Given the description of an element on the screen output the (x, y) to click on. 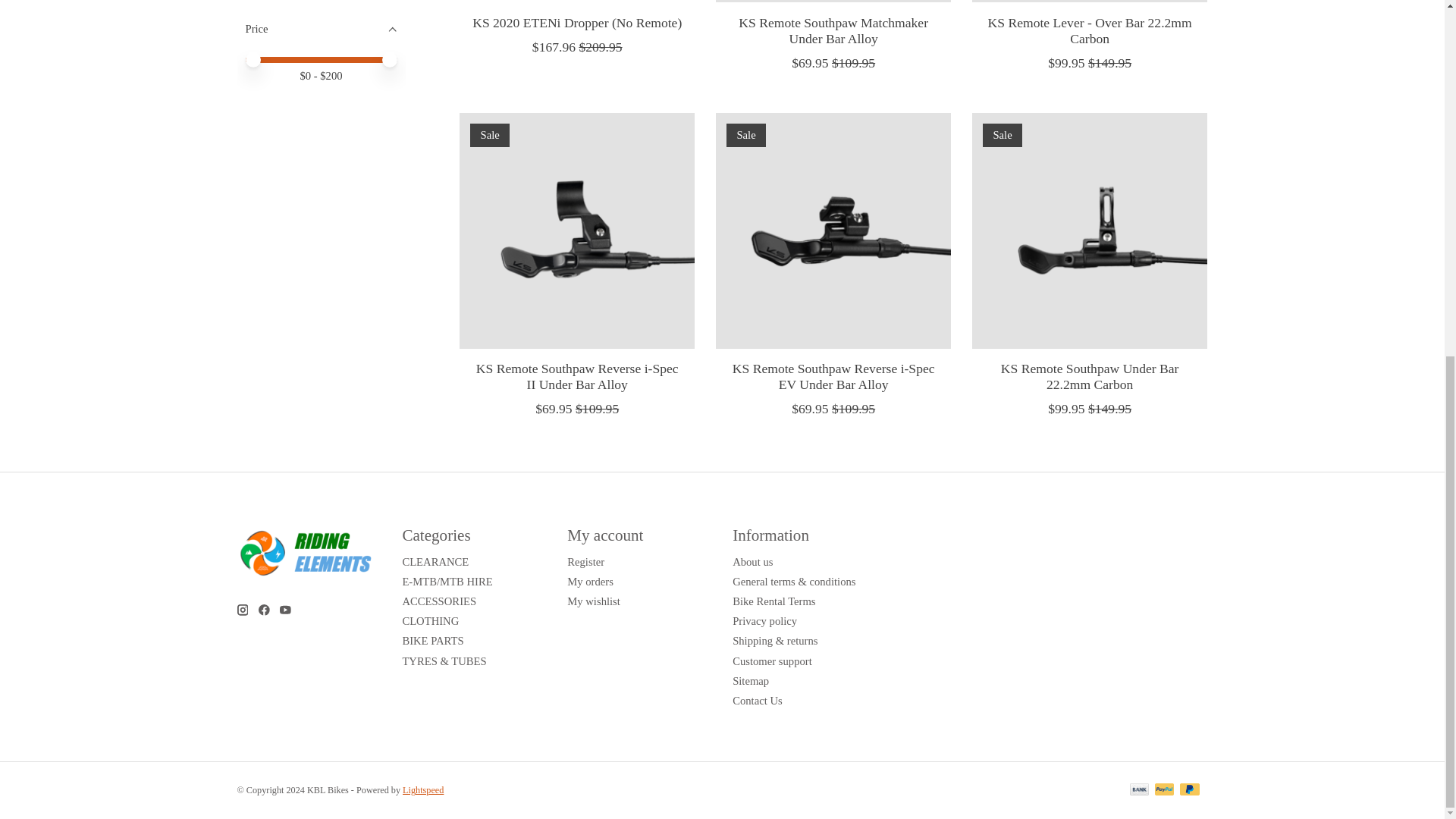
200 (321, 57)
0 (321, 57)
KS KS Remote Southpaw Under Bar 22.2mm Carbon (1089, 230)
KS KS Remote Southpaw Reverse i-Spec II Under Bar Alloy (577, 230)
KS KS Remote Southpaw Reverse i-Spec EV Under Bar Alloy (833, 230)
